Given the description of an element on the screen output the (x, y) to click on. 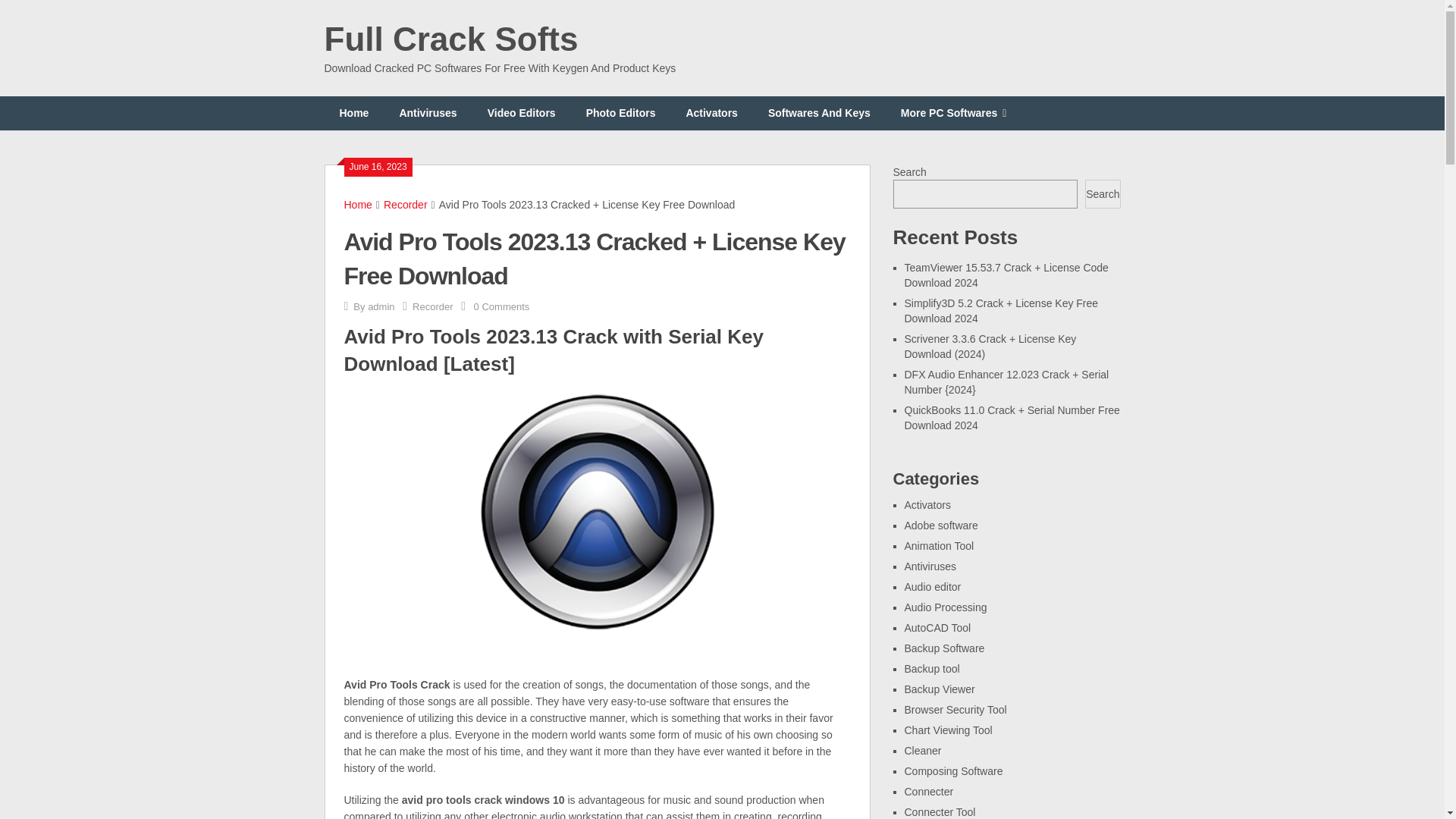
Softwares And Keys (818, 113)
Recorder (406, 204)
Video Editors (520, 113)
0 Comments (501, 306)
More PC Softwares (953, 113)
Antiviruses (929, 566)
Animation Tool (939, 545)
Home (354, 113)
Home (357, 204)
Recorder (432, 306)
